Given the description of an element on the screen output the (x, y) to click on. 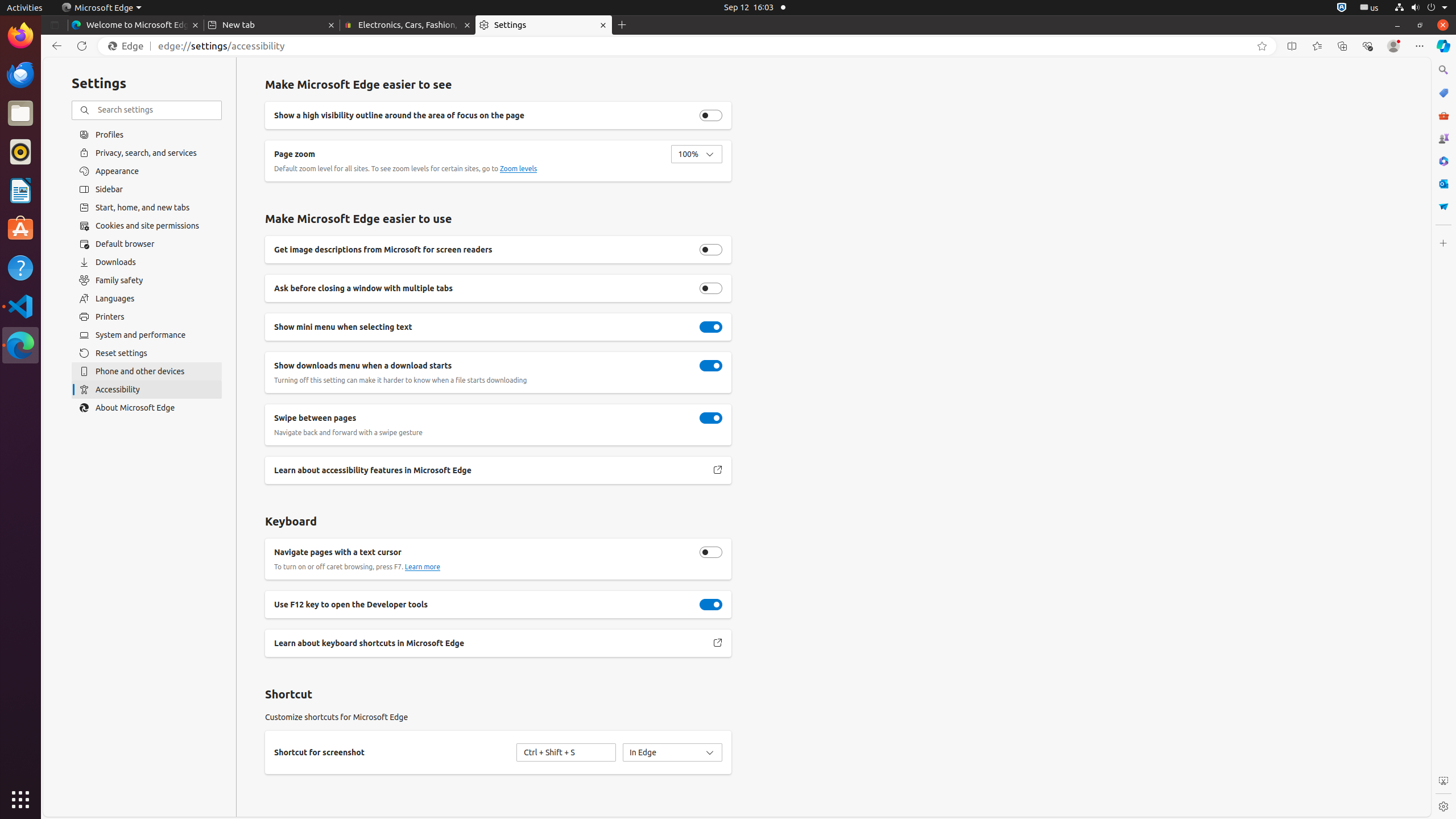
Start, home, and new tabs Element type: tree-item (146, 207)
Get image descriptions from Microsoft for screen readers Element type: check-box (710, 249)
Search Element type: push-button (1443, 69)
Profiles Element type: tree-item (146, 134)
Languages Element type: tree-item (146, 298)
